Given the description of an element on the screen output the (x, y) to click on. 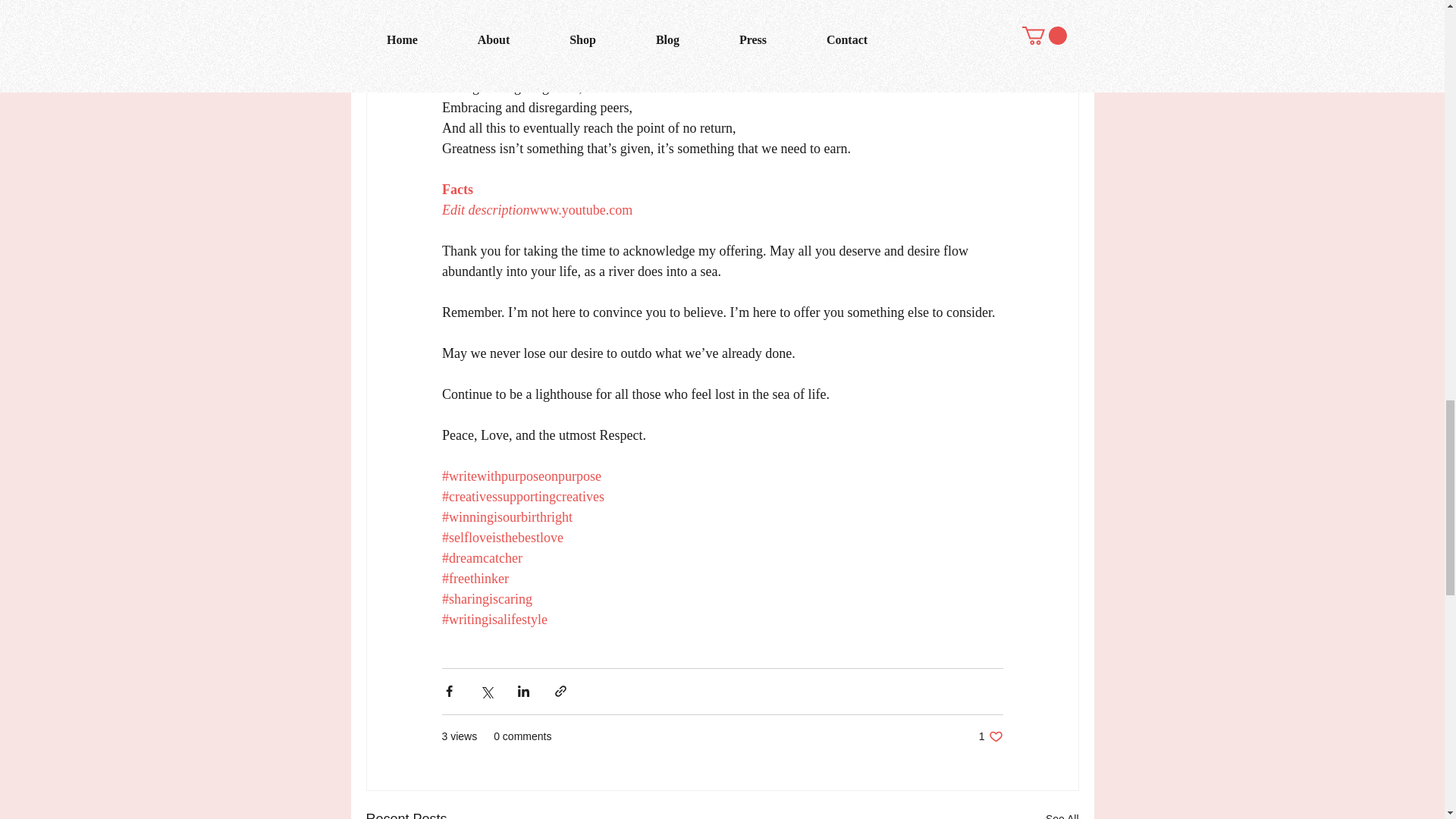
www.youtube.com (580, 209)
Facts (456, 189)
Edit description (990, 736)
See All (485, 209)
